Given the description of an element on the screen output the (x, y) to click on. 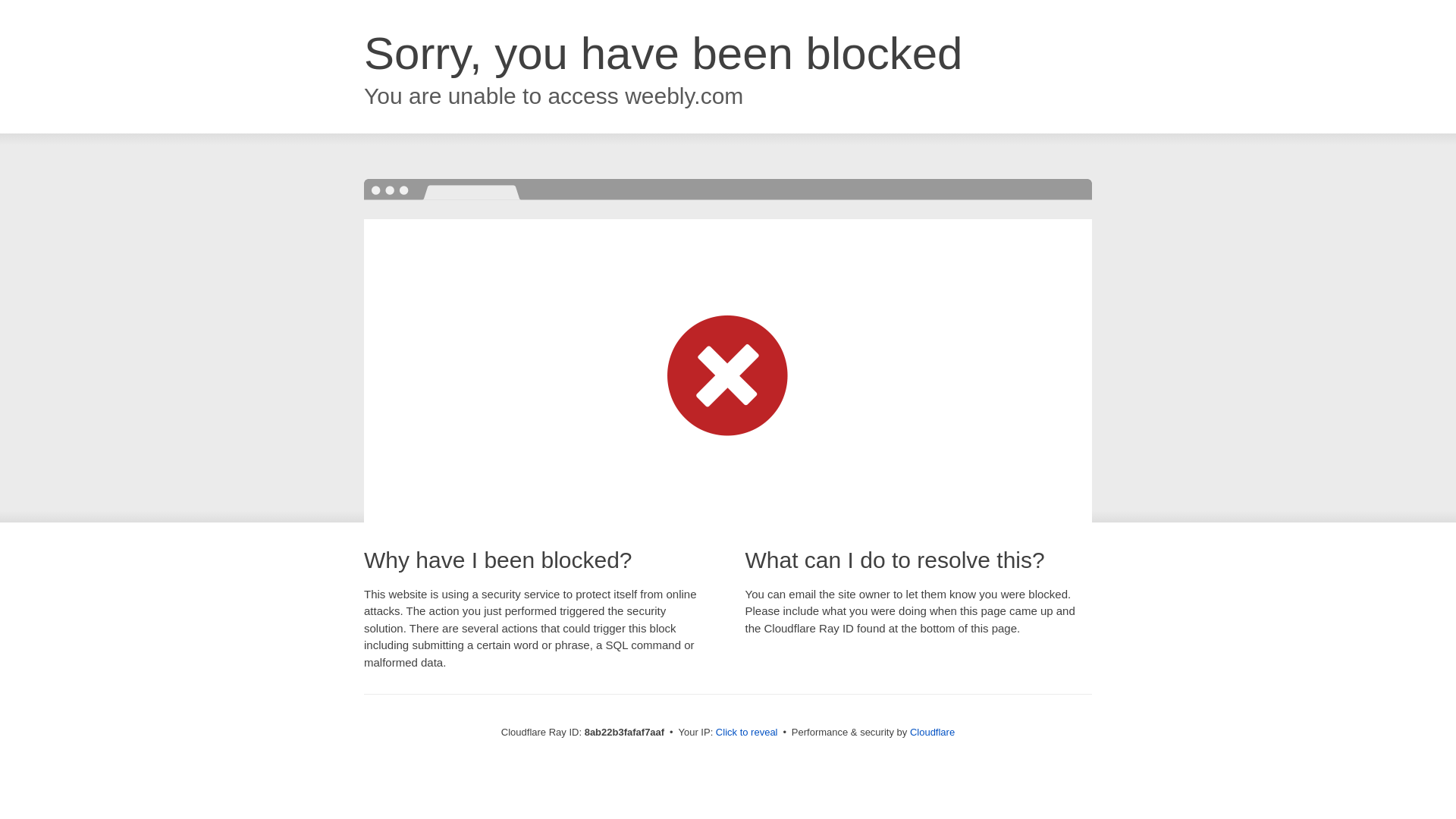
Cloudflare (932, 731)
Click to reveal (746, 732)
